Given the description of an element on the screen output the (x, y) to click on. 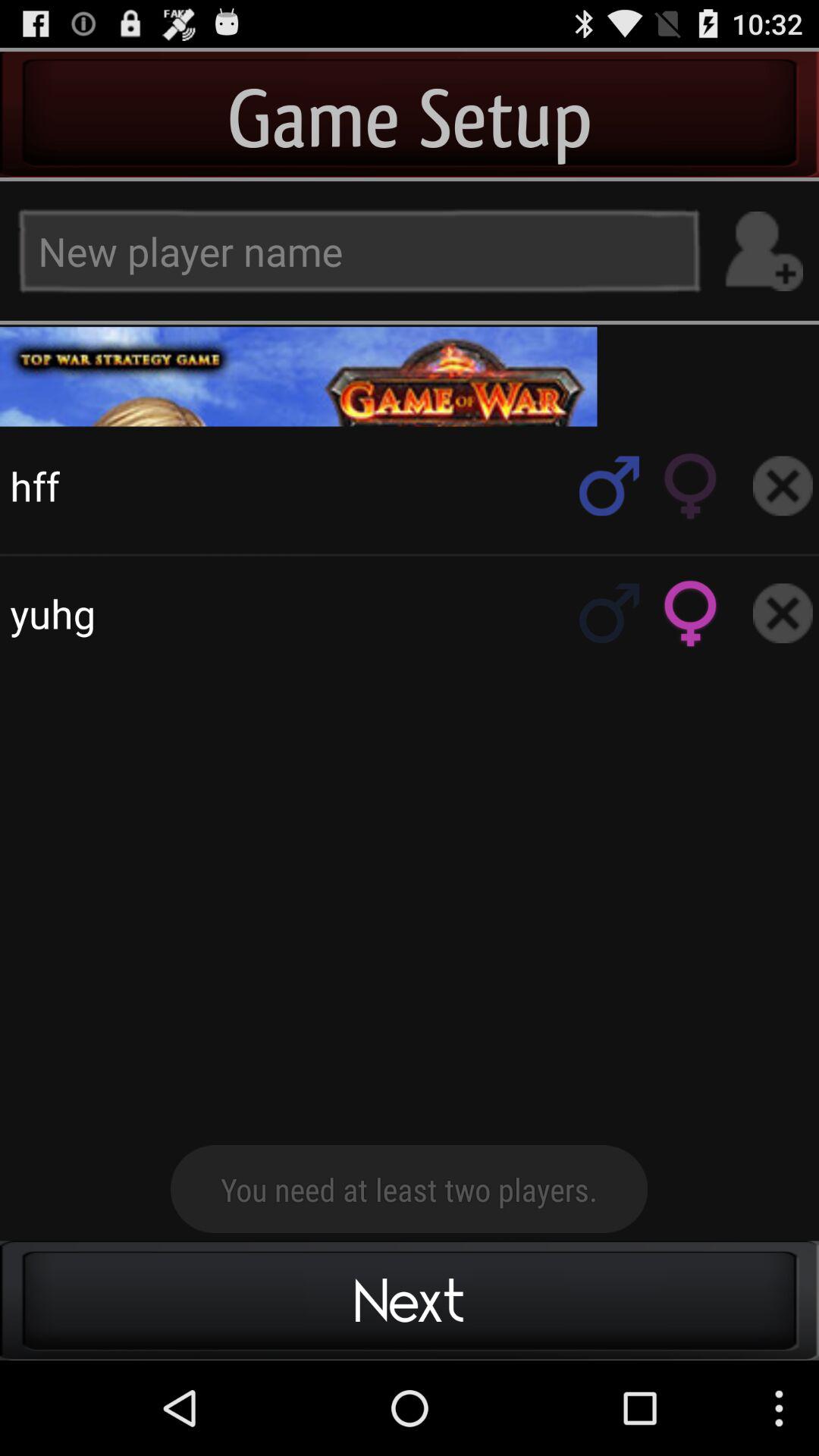
search (609, 613)
